Given the description of an element on the screen output the (x, y) to click on. 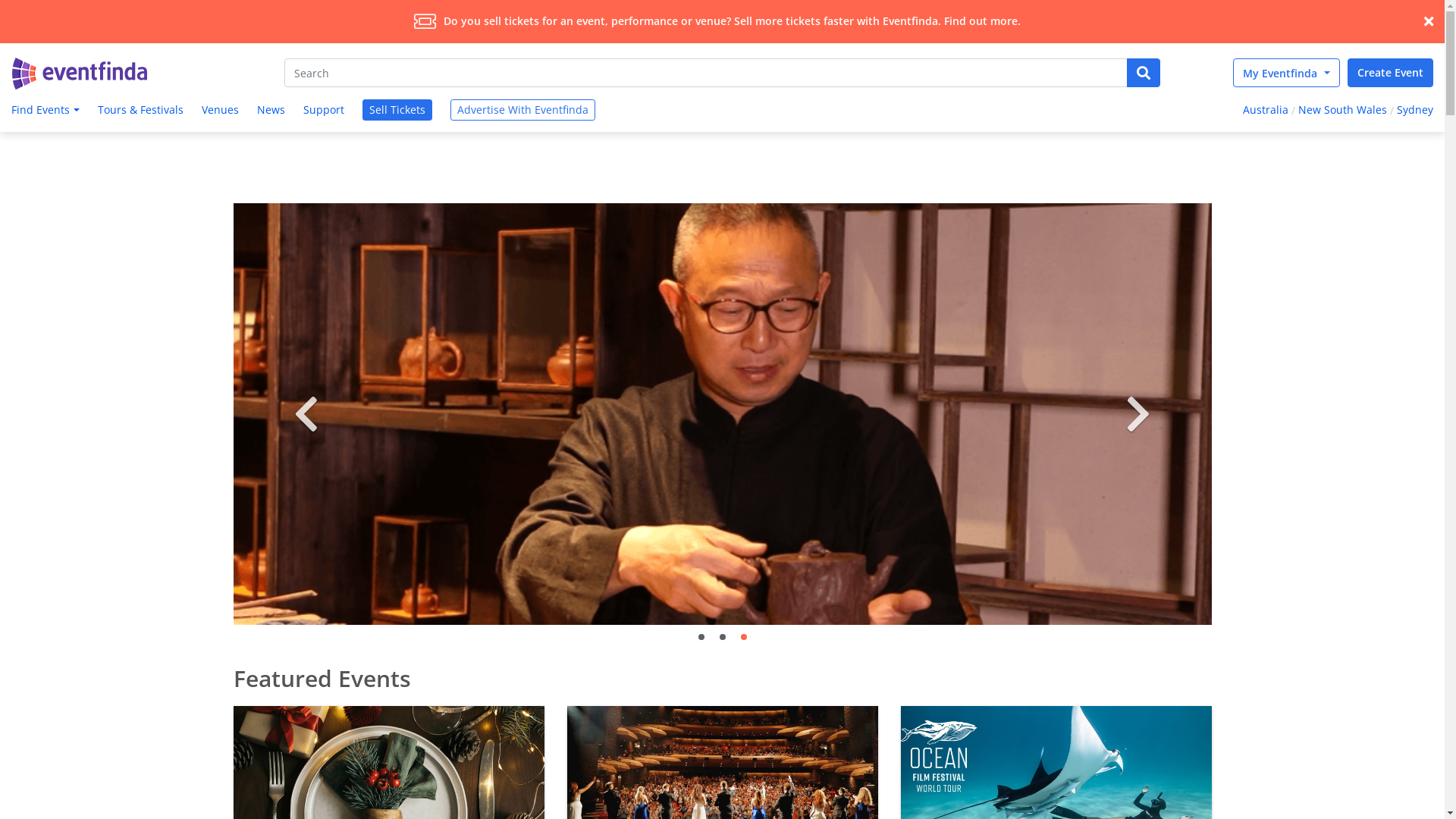
News Element type: text (270, 110)
My Eventfinda Element type: text (1286, 72)
eventfinda.com.au - What's on in Australia Element type: text (79, 73)
Advertise With Eventfinda Element type: text (522, 109)
Sell Tickets Element type: text (397, 109)
Create Event Element type: text (1390, 72)
Film Screening - Silent Witness Element type: hover (611, 413)
Support Element type: text (323, 110)
New South Wales Element type: text (1342, 110)
Find Events Element type: text (43, 110)
Venues Element type: text (220, 110)
Next Element type: text (1137, 413)
Sydney Element type: text (1416, 110)
Australia Element type: text (1263, 110)
Previous Element type: text (306, 413)
Search Element type: hover (705, 72)
Tours & Festivals Element type: text (140, 110)
